Given the description of an element on the screen output the (x, y) to click on. 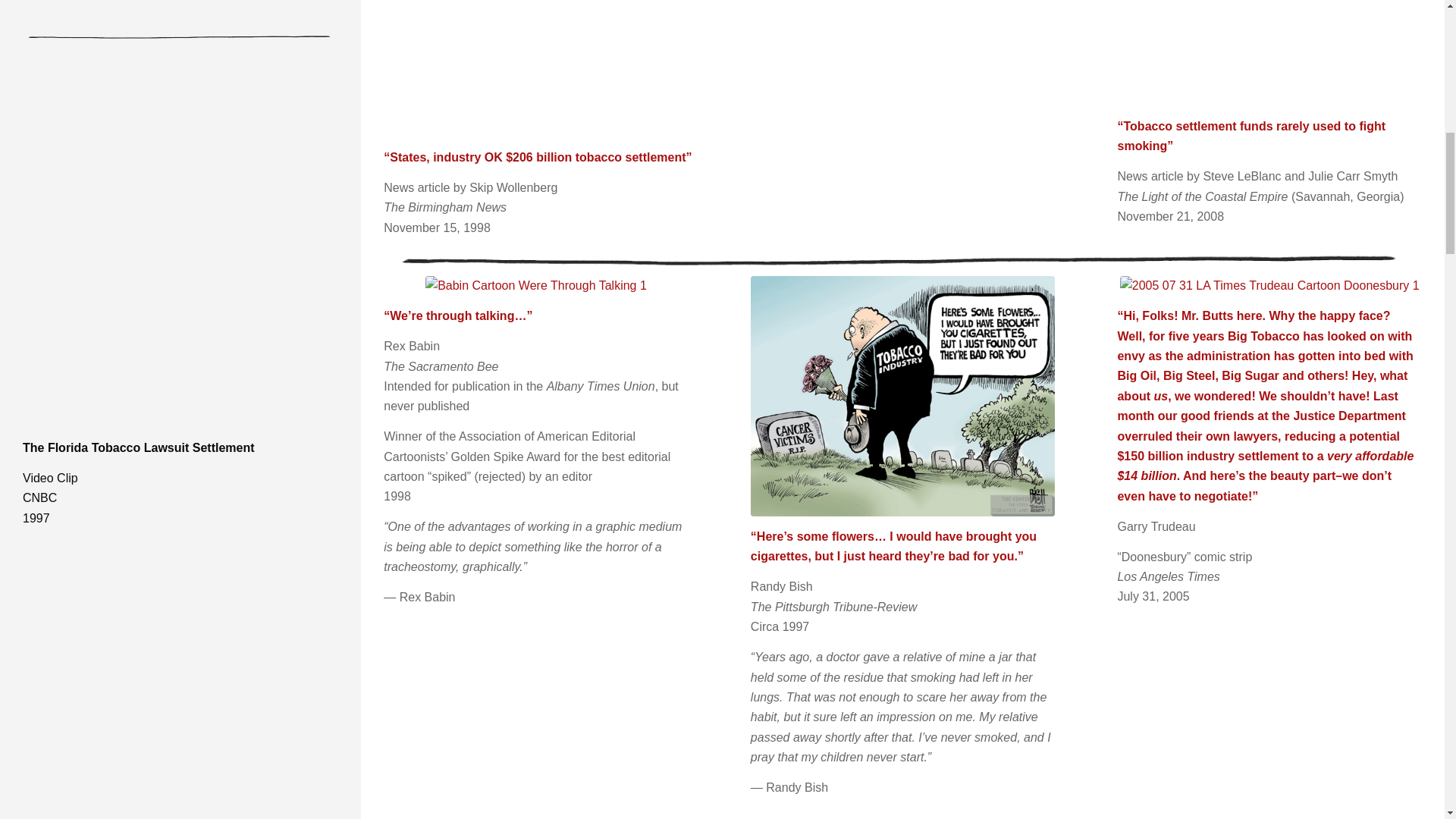
Babin Cartoon Were Through Talking 1 (535, 285)
2005 07 31 LA Times Trudeau Cartoon Doonesbury 1 (1269, 285)
Divide Line Narrow (180, 37)
Bish Cartoon Cancer Victims RIP 1 (902, 396)
Divide Line Narrow (903, 260)
